Given the description of an element on the screen output the (x, y) to click on. 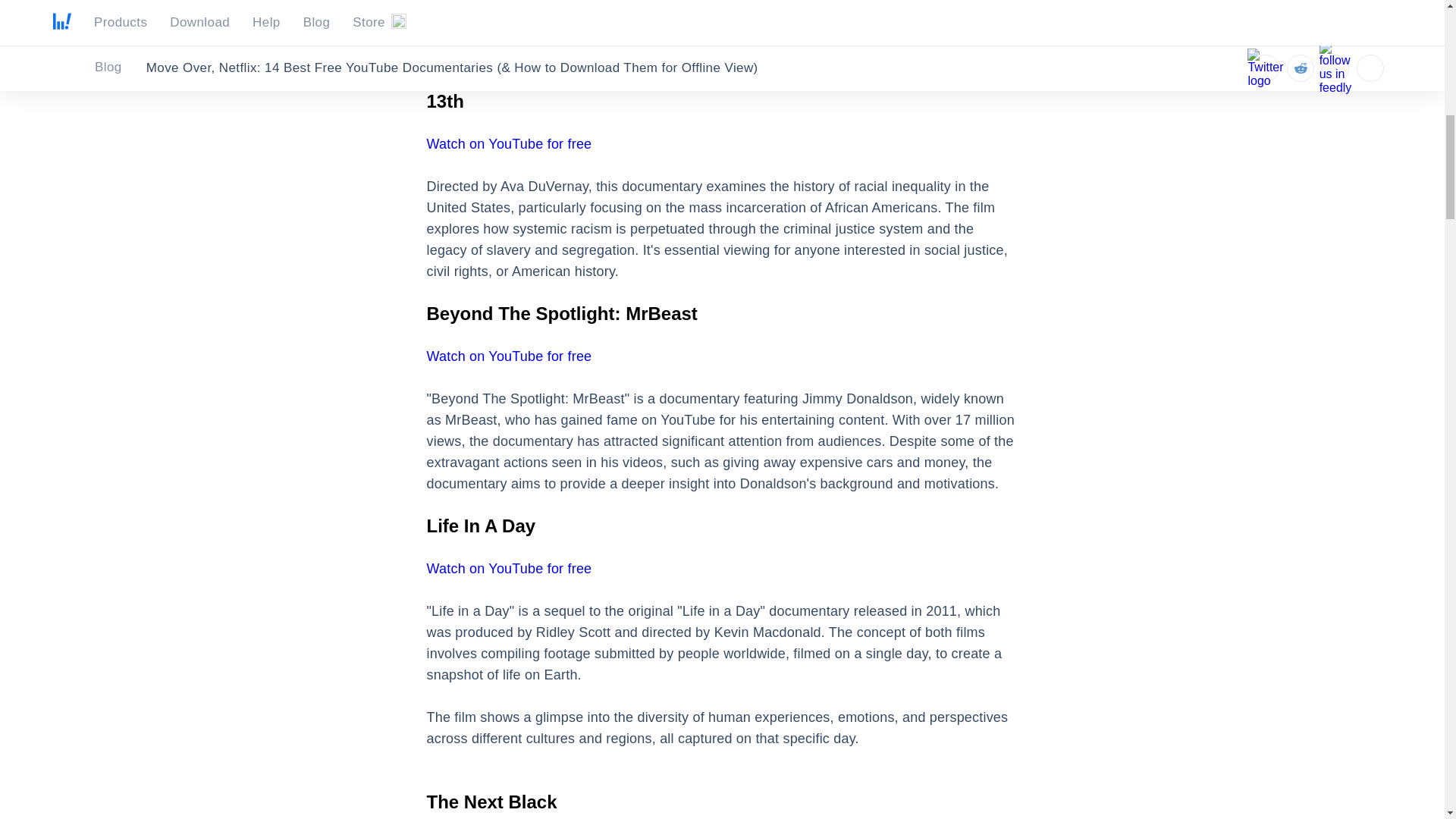
Watch on YouTube for free (508, 355)
Watch on YouTube for free (508, 143)
Watch on YouTube for free (508, 568)
